Given the description of an element on the screen output the (x, y) to click on. 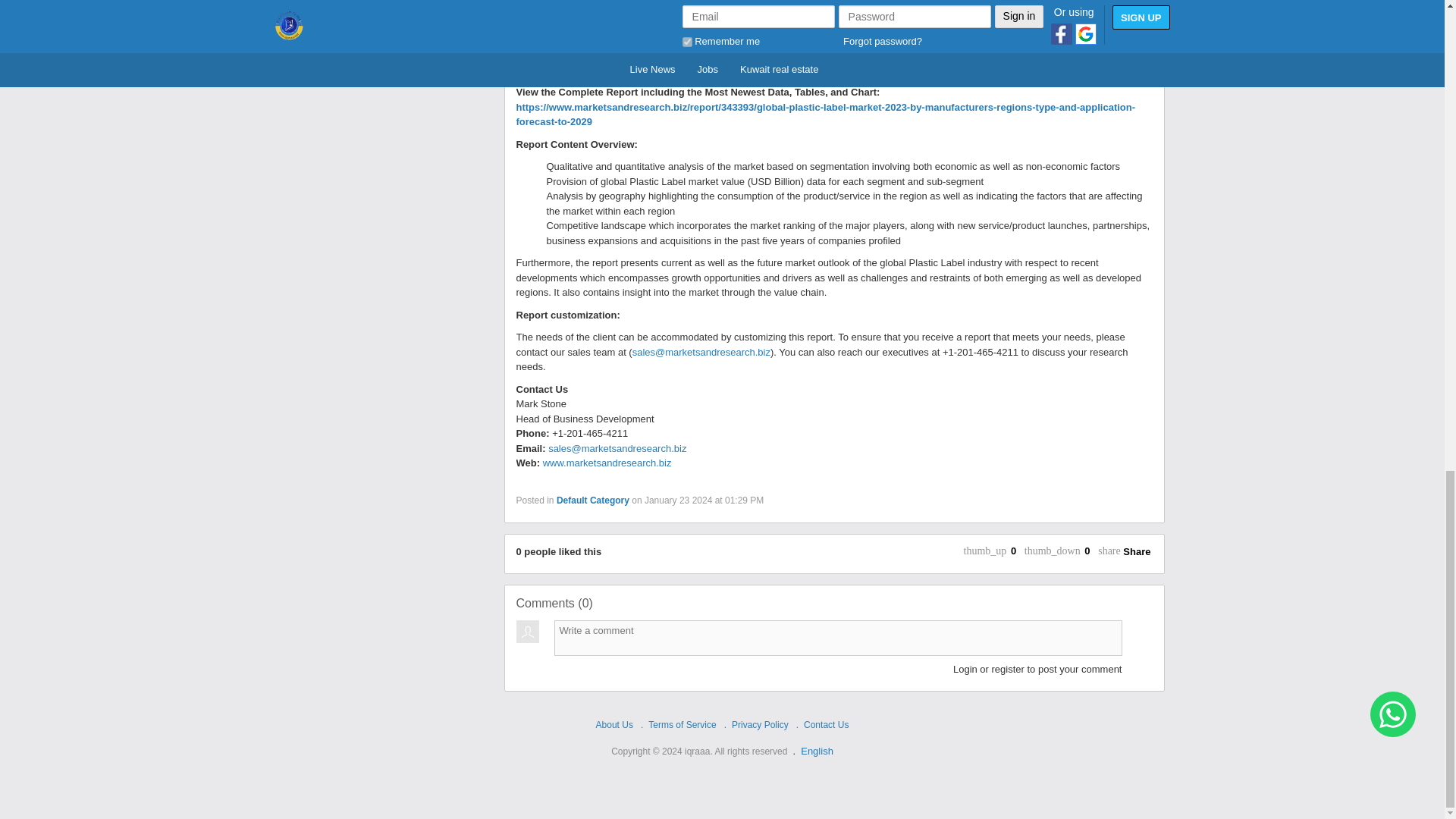
0 (1016, 551)
Language (816, 750)
People Who Like This (1016, 551)
share Share (1124, 551)
Default Category (592, 499)
www.marketsandresearch.biz (607, 462)
People Who DisLike This (1089, 551)
0 (1089, 551)
